Given the description of an element on the screen output the (x, y) to click on. 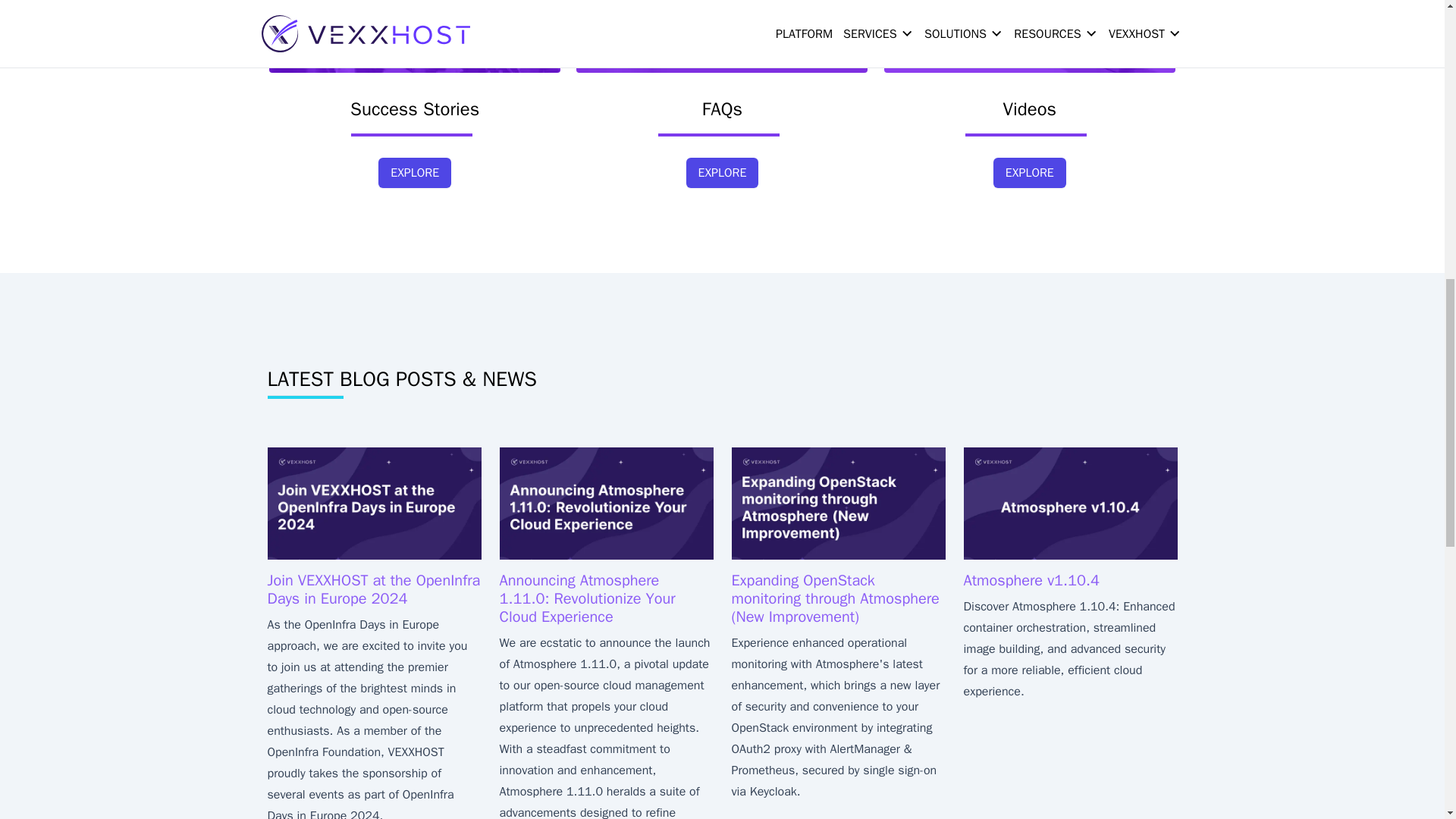
EXPLORE (721, 185)
Atmosphere v1.10.4 (1030, 579)
Join VEXXHOST at the OpenInfra Days in Europe 2024 (373, 589)
EXPLORE (1028, 173)
EXPLORE (1028, 185)
EXPLORE (414, 173)
EXPLORE (414, 185)
EXPLORE (721, 173)
